Given the description of an element on the screen output the (x, y) to click on. 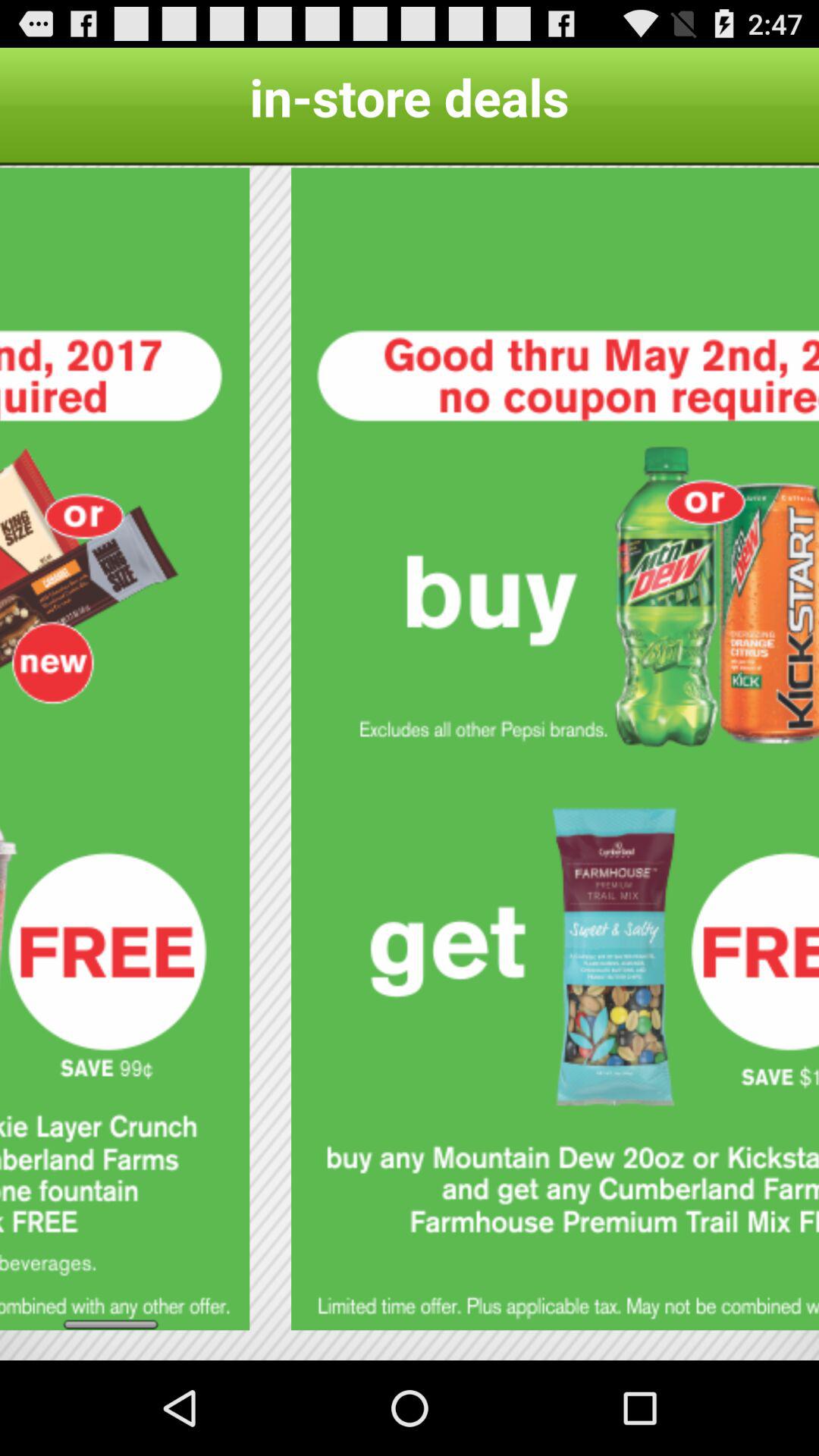
select this coupon (555, 748)
